Given the description of an element on the screen output the (x, y) to click on. 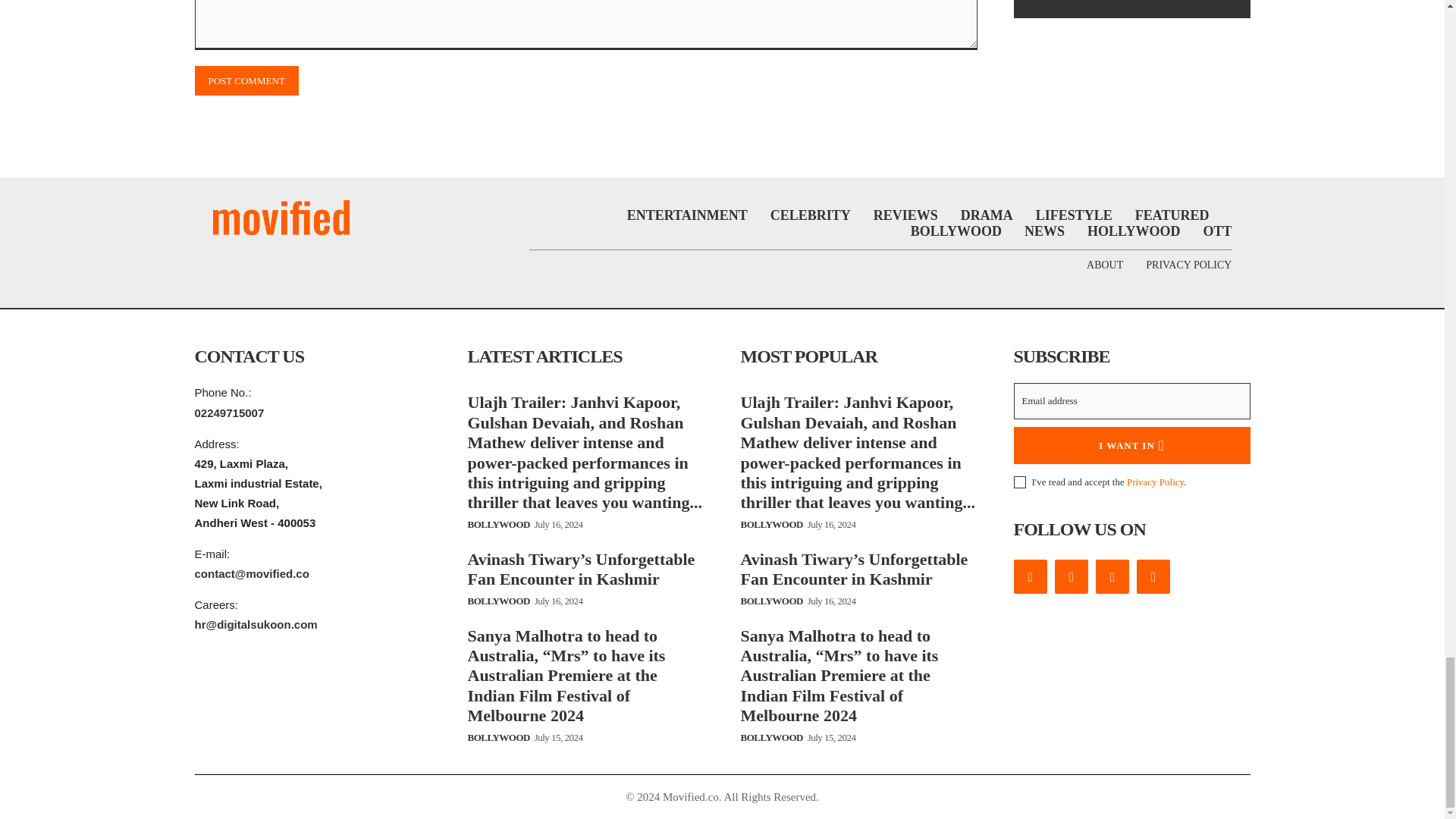
Post Comment (245, 80)
